Given the description of an element on the screen output the (x, y) to click on. 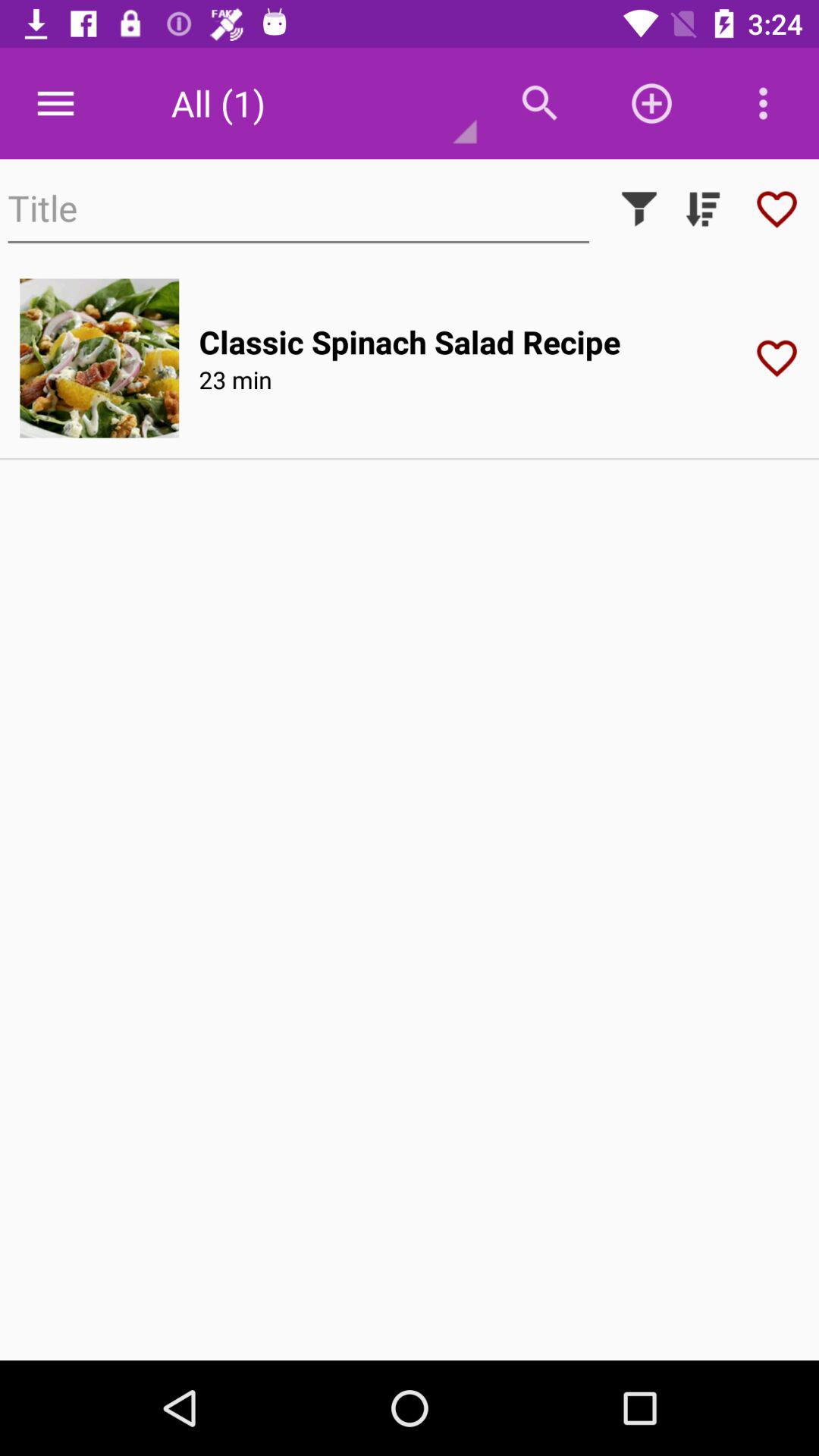
click the item next to classic spinach salad icon (99, 357)
